Given the description of an element on the screen output the (x, y) to click on. 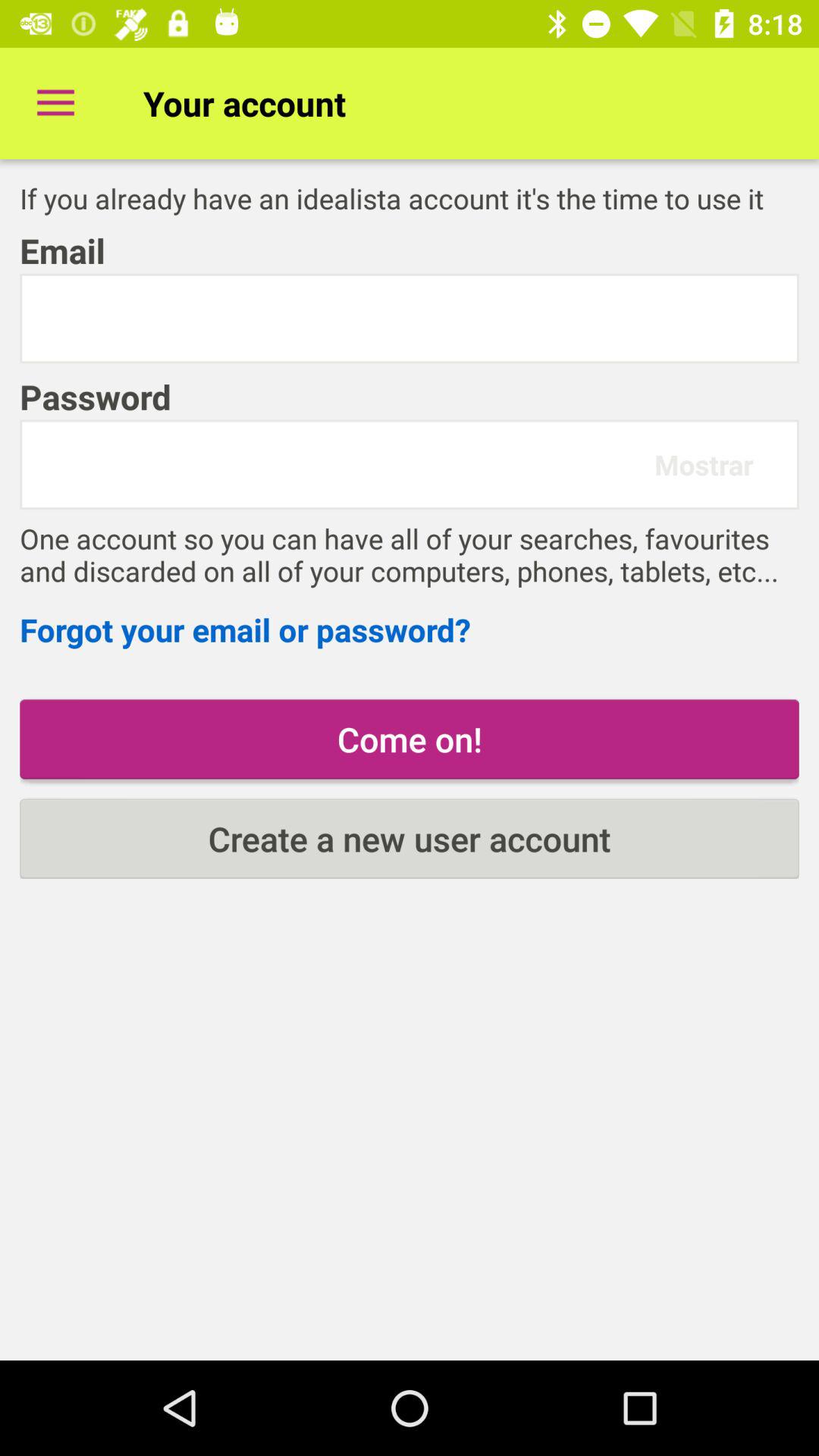
go to create email (409, 318)
